Given the description of an element on the screen output the (x, y) to click on. 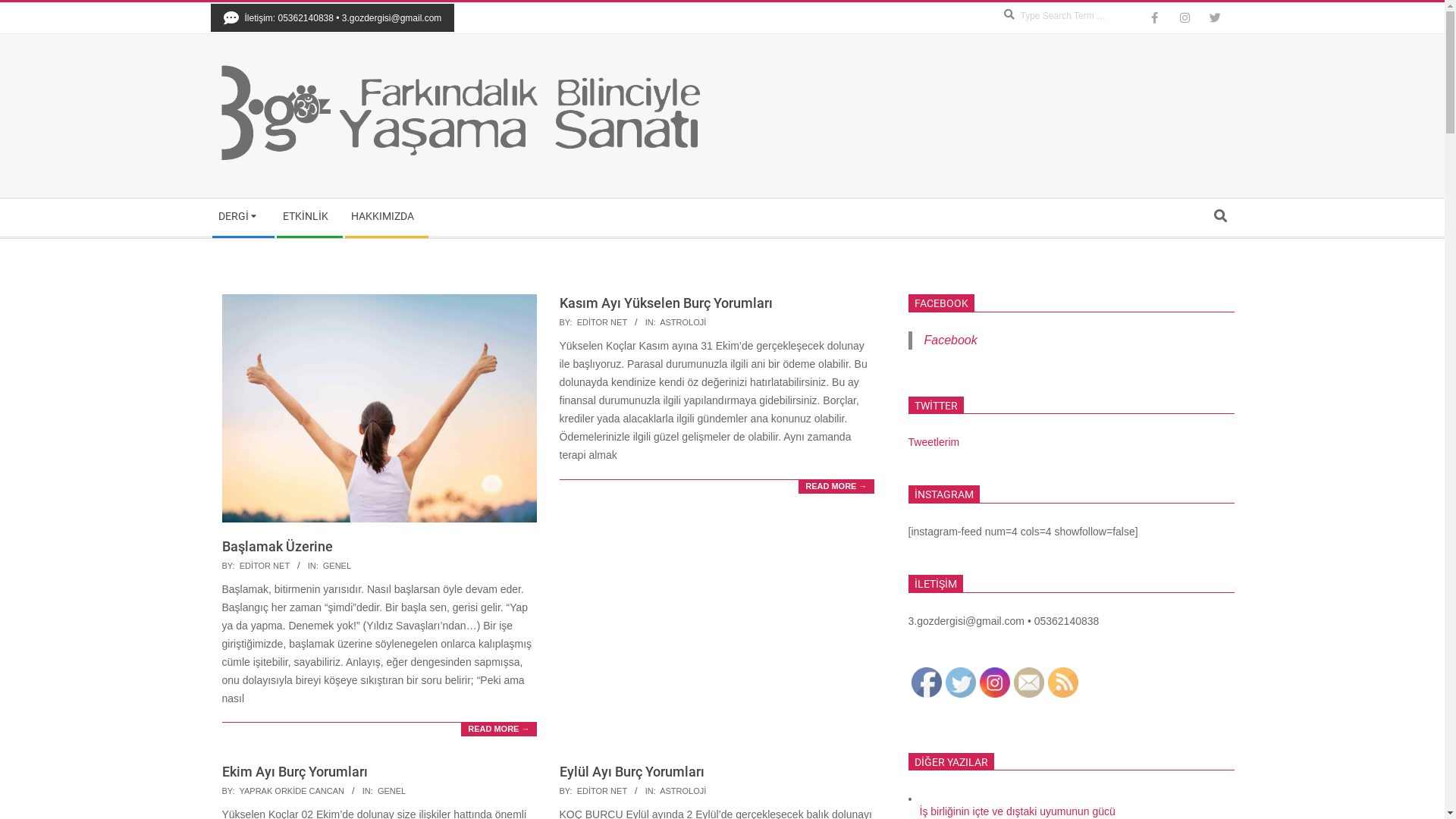
ETKINLIK Element type: text (308, 216)
ASTROLOJI Element type: text (682, 321)
ASTROLOJI Element type: text (682, 790)
Twitter Element type: hover (959, 682)
GENEL Element type: text (391, 790)
Facebook Element type: text (949, 339)
RSS Element type: hover (1063, 682)
EDITOR NET Element type: text (264, 565)
Follow by Email Element type: hover (1028, 682)
Search Element type: text (17, 7)
Instagram Element type: hover (994, 682)
Tweetlerim Element type: text (934, 442)
Facebook Element type: hover (926, 682)
EDITOR NET Element type: text (602, 790)
GENEL Element type: text (337, 565)
DERGI Element type: text (242, 216)
FACEBOOK Element type: text (941, 303)
YAPRAK ORKIDE CANCAN Element type: text (291, 790)
EDITOR NET Element type: text (602, 321)
HAKKIMIZDA Element type: text (385, 216)
